Given the description of an element on the screen output the (x, y) to click on. 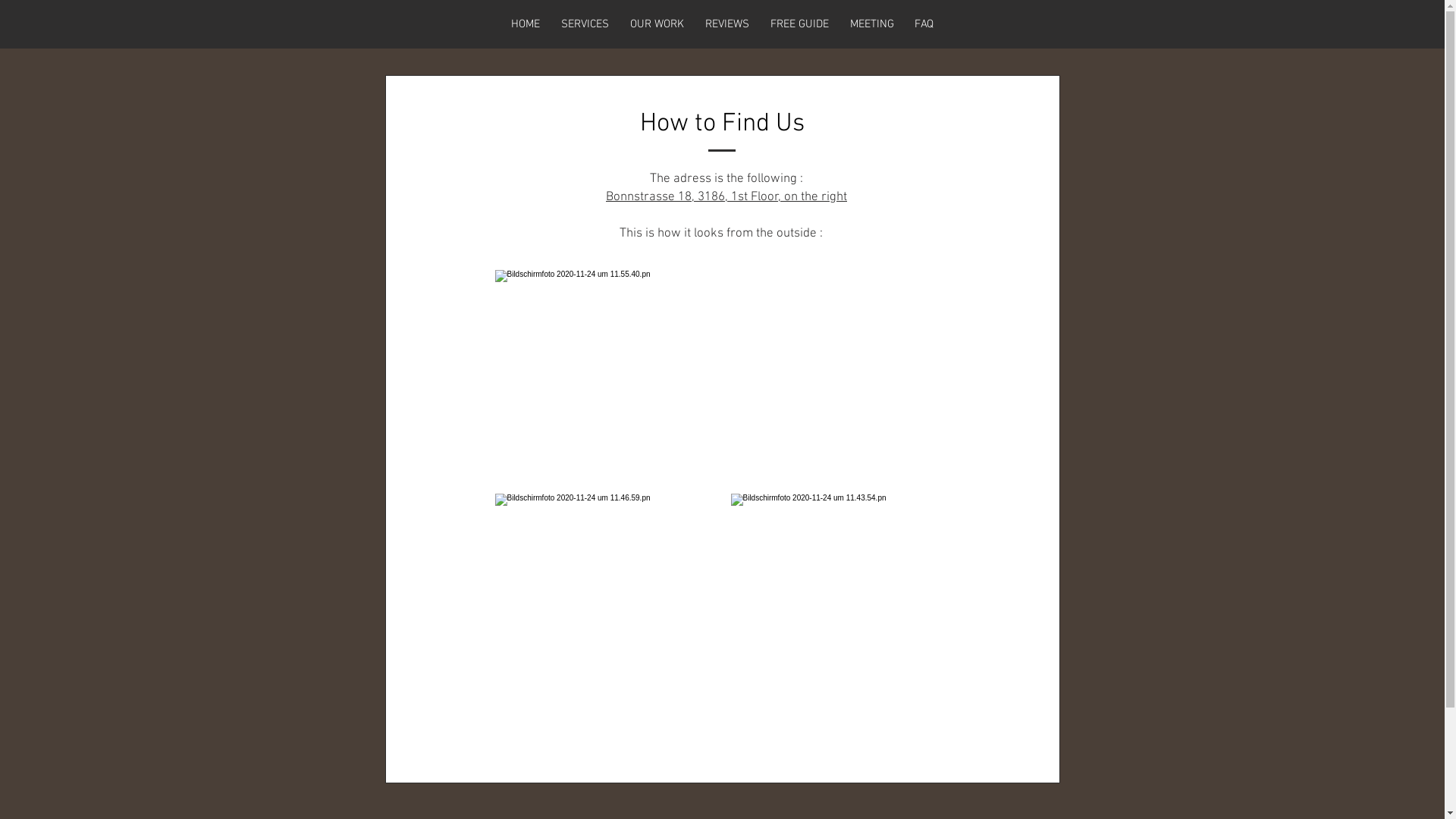
Bonnstrasse 18, 3186, 1st Floor, on the right Element type: text (726, 196)
FAQ Element type: text (923, 24)
OUR WORK Element type: text (655, 24)
REVIEWS Element type: text (726, 24)
HOME Element type: text (525, 24)
SERVICES Element type: text (584, 24)
MEETING Element type: text (870, 24)
FREE GUIDE Element type: text (799, 24)
